Given the description of an element on the screen output the (x, y) to click on. 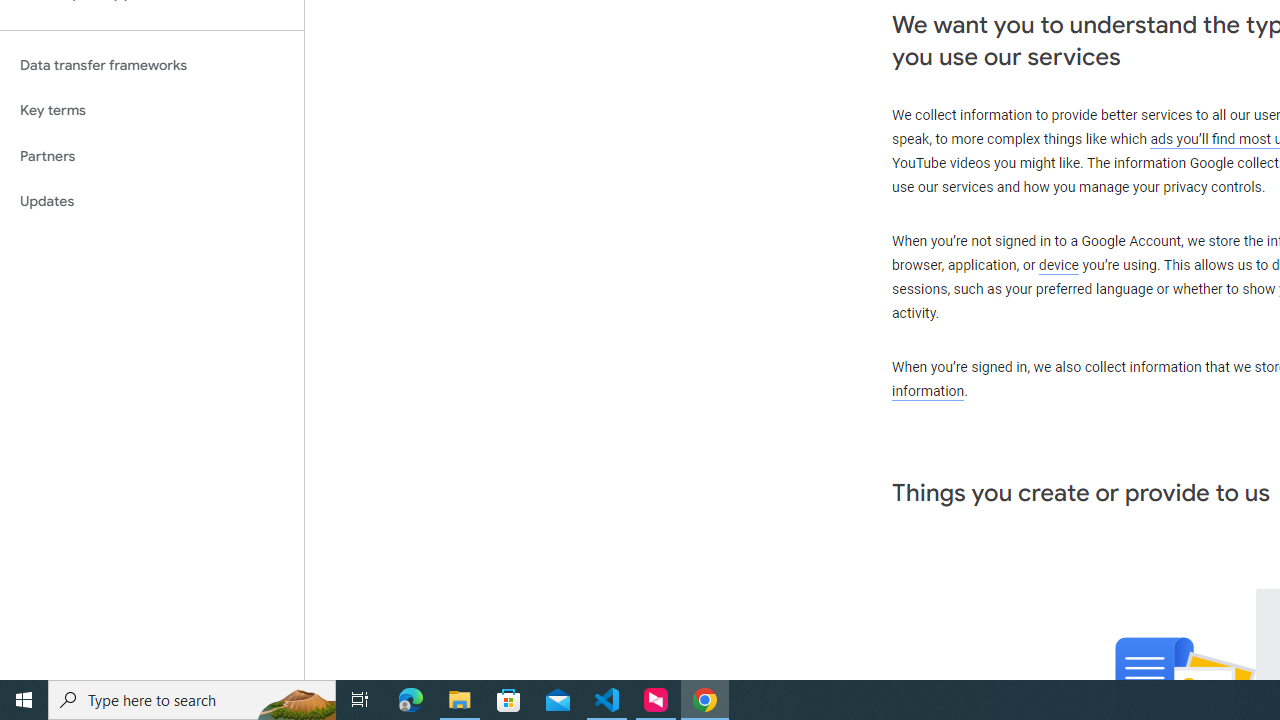
Key terms (152, 110)
Partners (152, 156)
Data transfer frameworks (152, 65)
device (1059, 265)
